Given the description of an element on the screen output the (x, y) to click on. 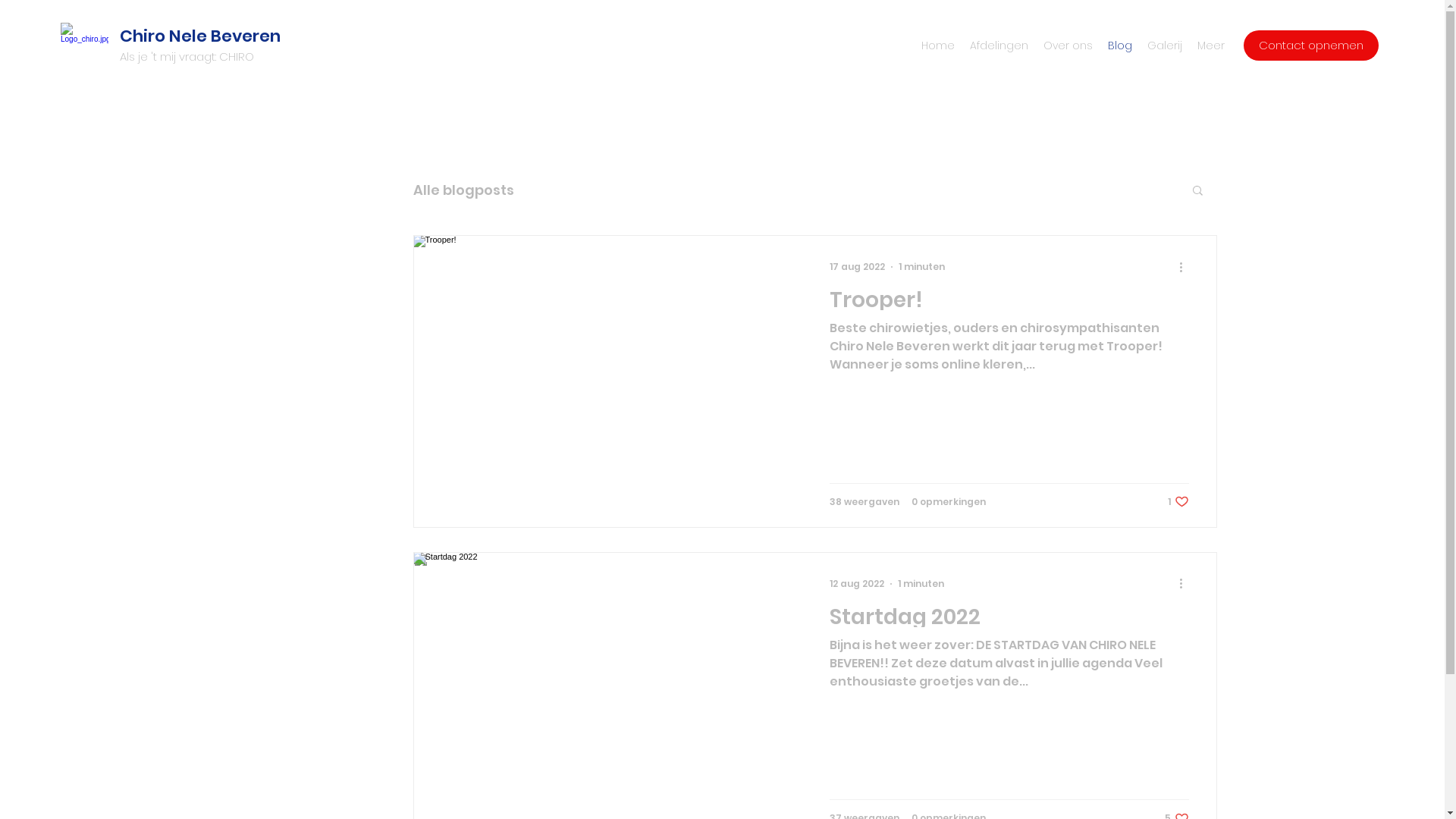
Startdag 2022 Element type: text (1009, 620)
Afdelingen Element type: text (998, 45)
Chiro Nele Beveren Element type: text (199, 35)
Home Element type: text (937, 45)
Galerij Element type: text (1164, 45)
Over ons Element type: text (1067, 45)
1 vind-ik-leuk. Post is niet als leuk gemarkeerd
1 Element type: text (1178, 501)
Blog Element type: text (1119, 45)
Trooper! Element type: text (1009, 303)
Contact opnemen Element type: text (1310, 45)
0 opmerkingen Element type: text (948, 501)
